Given the description of an element on the screen output the (x, y) to click on. 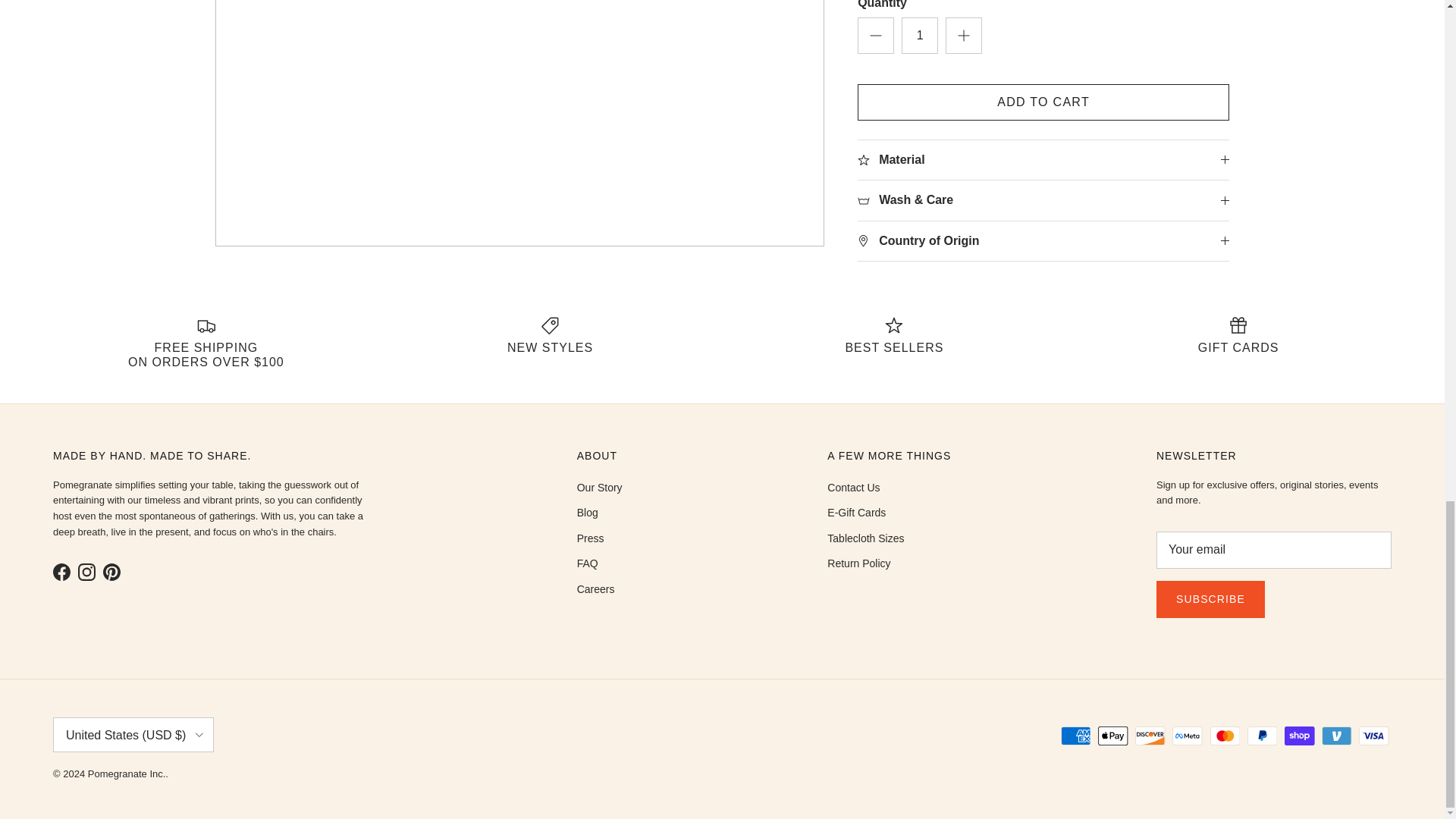
Pomegranate Inc. on Facebook (60, 571)
Pomegranate Inc. on Pinterest (111, 571)
Pomegranate Inc. on Instagram (87, 571)
